Given the description of an element on the screen output the (x, y) to click on. 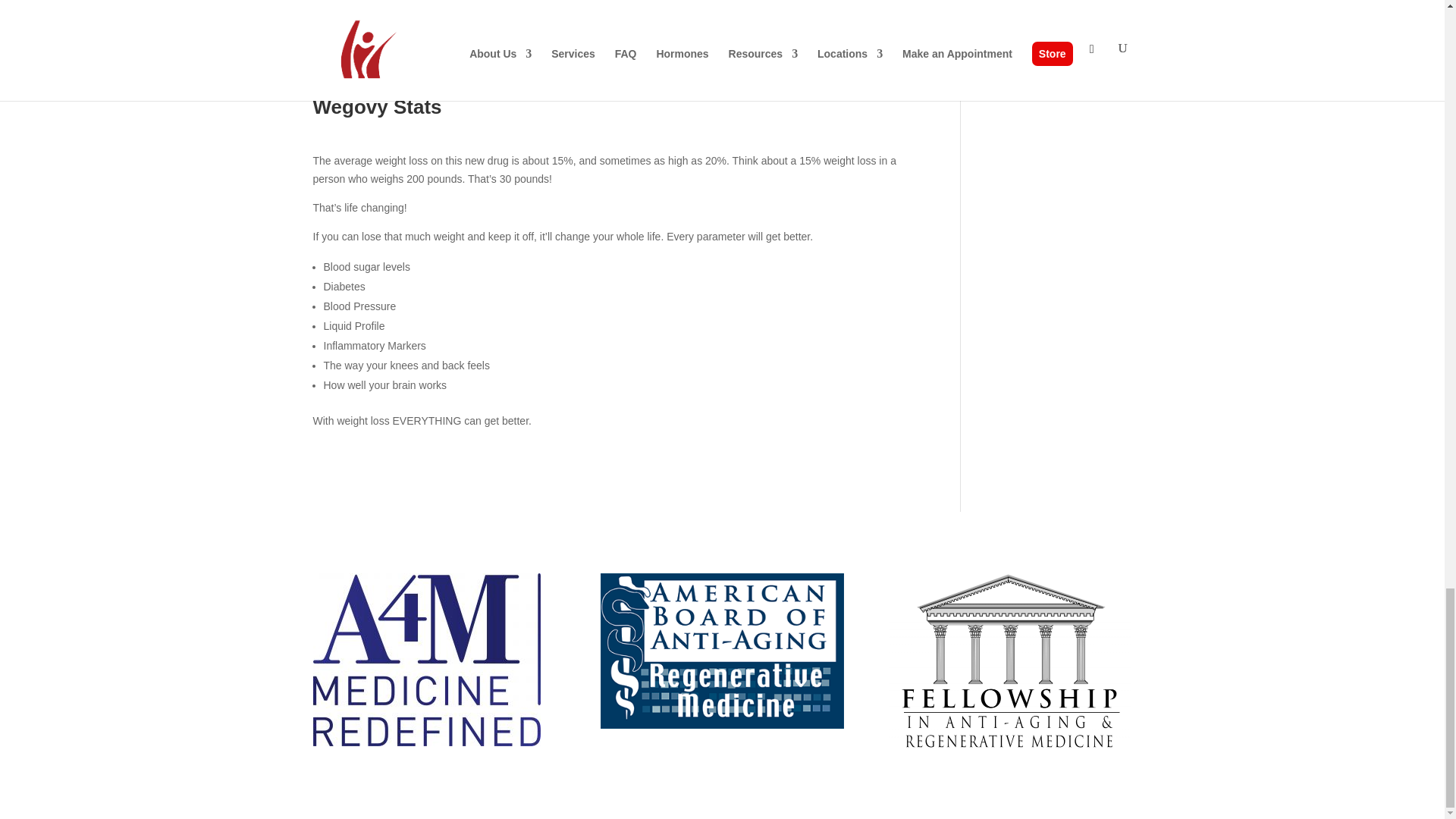
LOGO1 (1009, 665)
A4M-Logo (426, 659)
ABAARM-Logo (721, 650)
